Given the description of an element on the screen output the (x, y) to click on. 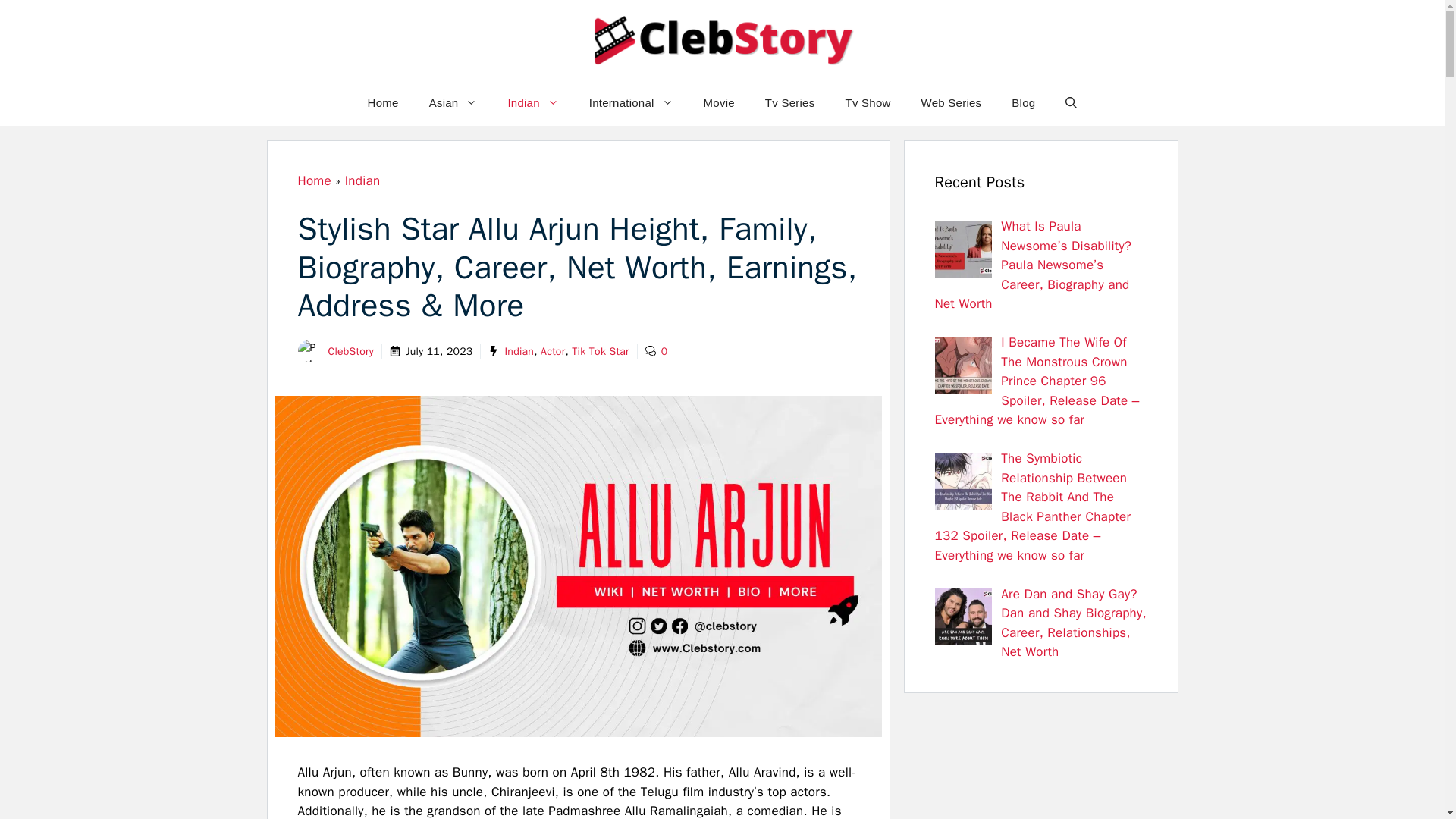
Home (382, 103)
Indian (532, 103)
Asian (453, 103)
International (630, 103)
